Given the description of an element on the screen output the (x, y) to click on. 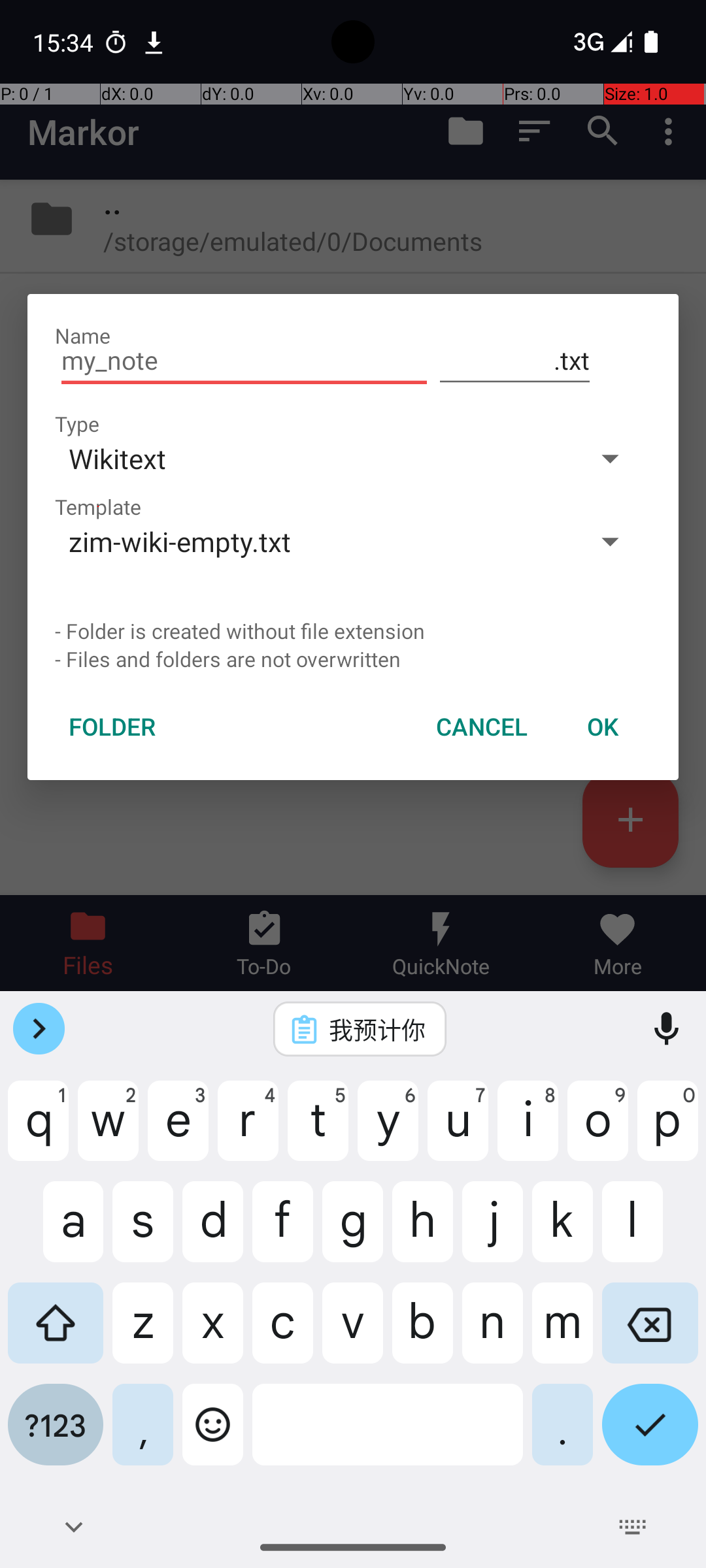
.txt Element type: android.widget.EditText (514, 360)
我预计你 Element type: android.widget.TextView (376, 1028)
